Given the description of an element on the screen output the (x, y) to click on. 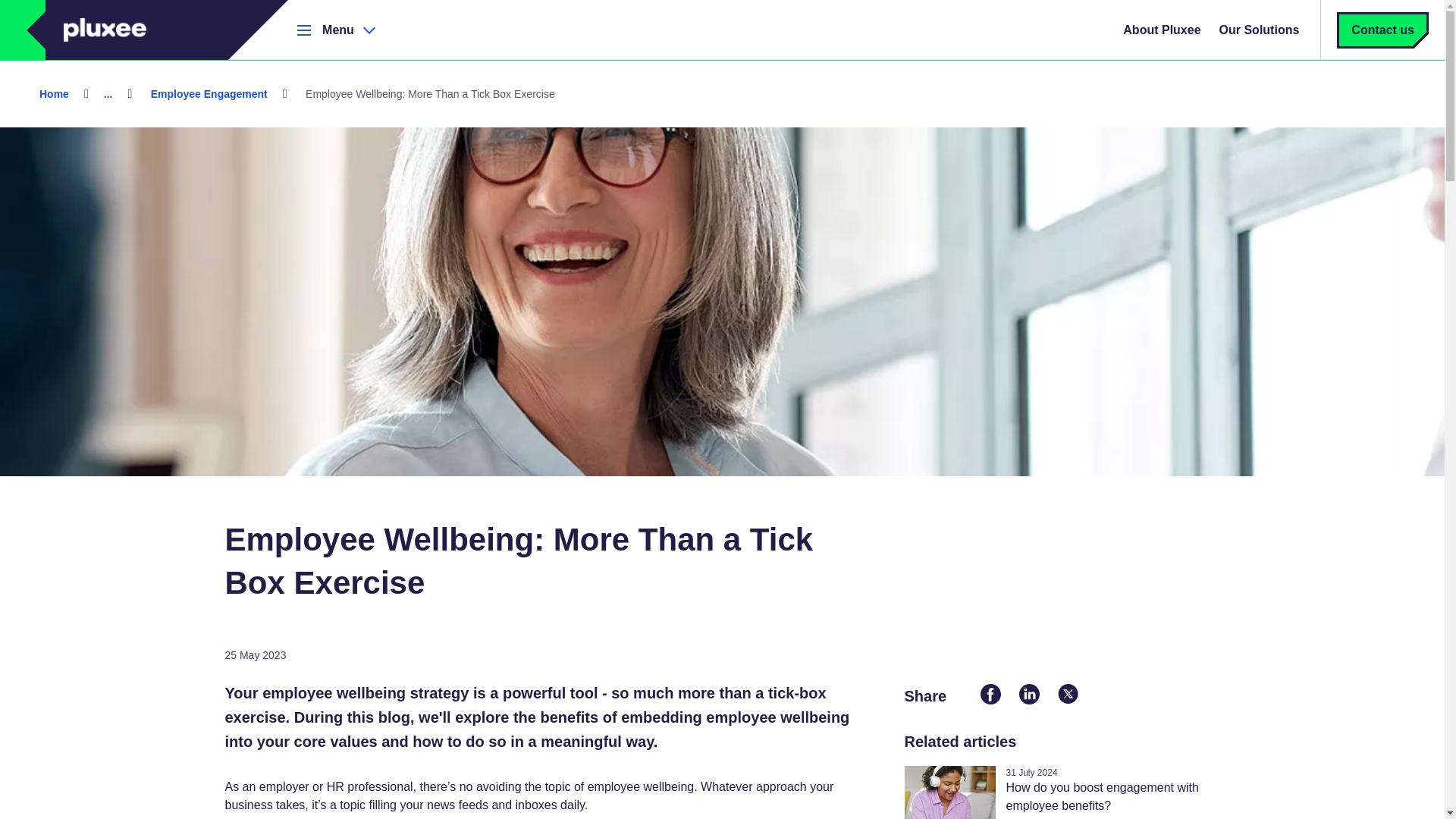
Contact us (1382, 29)
How do you boost engagement with employee benefits? (1102, 796)
Our Solutions (1258, 29)
About Pluxee (1161, 29)
Home (54, 93)
Employee Engagement (208, 93)
